Given the description of an element on the screen output the (x, y) to click on. 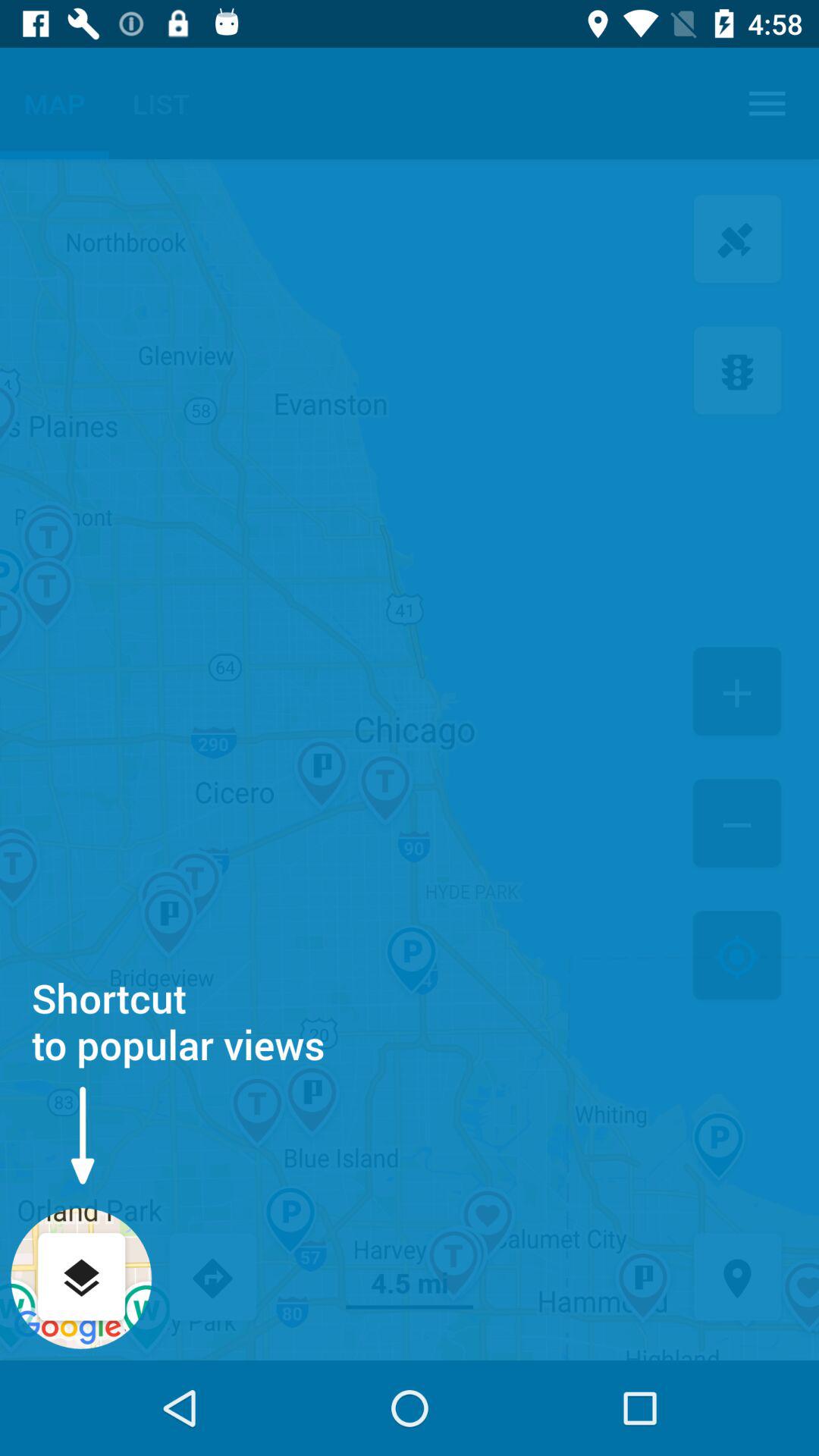
select view type (81, 1278)
